Given the description of an element on the screen output the (x, y) to click on. 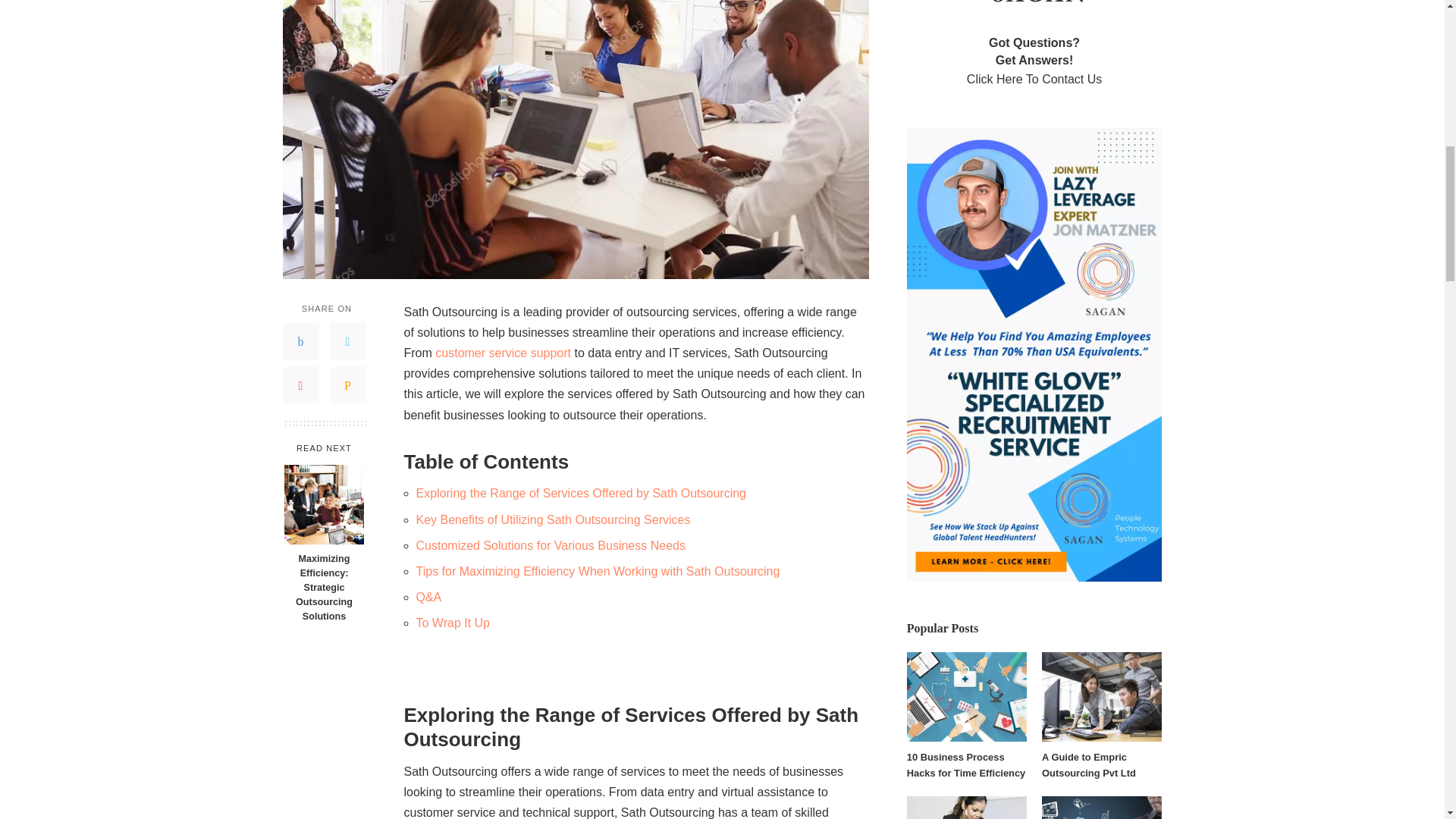
Email (347, 384)
Facebook (300, 340)
Understanding Atlas Outsourcing Services (502, 352)
Twitter (347, 340)
To Wrap It Up (451, 622)
Maximizing Efficiency: Strategic Outsourcing Solutions (323, 587)
Pinterest (300, 384)
